Given the description of an element on the screen output the (x, y) to click on. 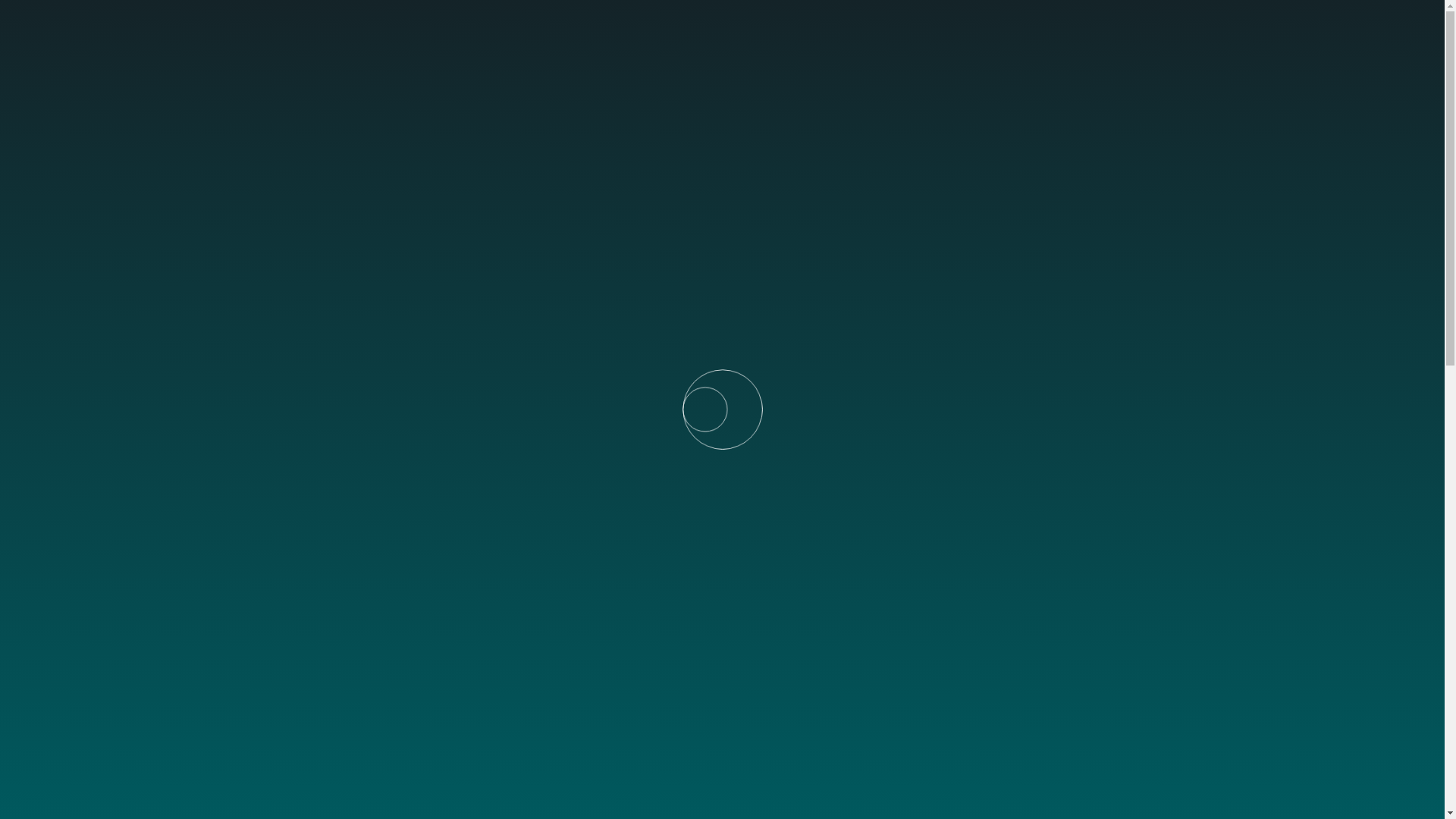
I NOSTRI MERCATI (907, 30)
CHI SIAMO (620, 30)
CARRIERE (1041, 30)
Scorri fino al contenuto della pagina (316, 412)
COSA FACCIAMO (748, 30)
Collegamento alla home page (87, 30)
CENTRO INFORMATIVO (1192, 30)
